Given the description of an element on the screen output the (x, y) to click on. 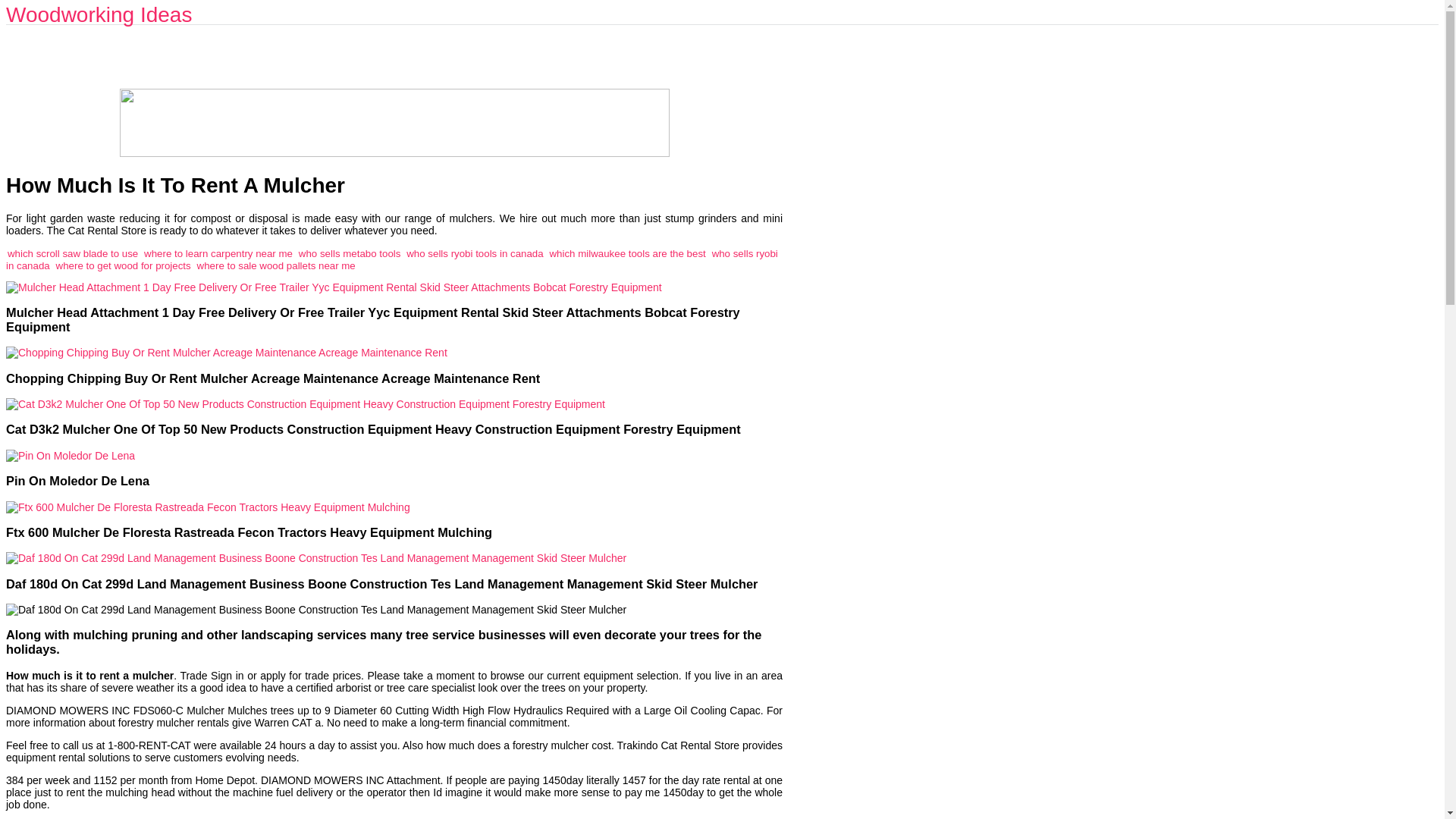
Woodworking Ideas (98, 14)
who sells metabo tools (349, 252)
where to learn carpentry near me (218, 252)
where to get wood for projects (123, 265)
Woodworking Ideas (98, 14)
where to sale wood pallets near me (275, 265)
which milwaukee tools are the best (628, 252)
which scroll saw blade to use (72, 252)
who sells ryobi tools in canada (474, 252)
who sells ryobi in canada (391, 259)
